Given the description of an element on the screen output the (x, y) to click on. 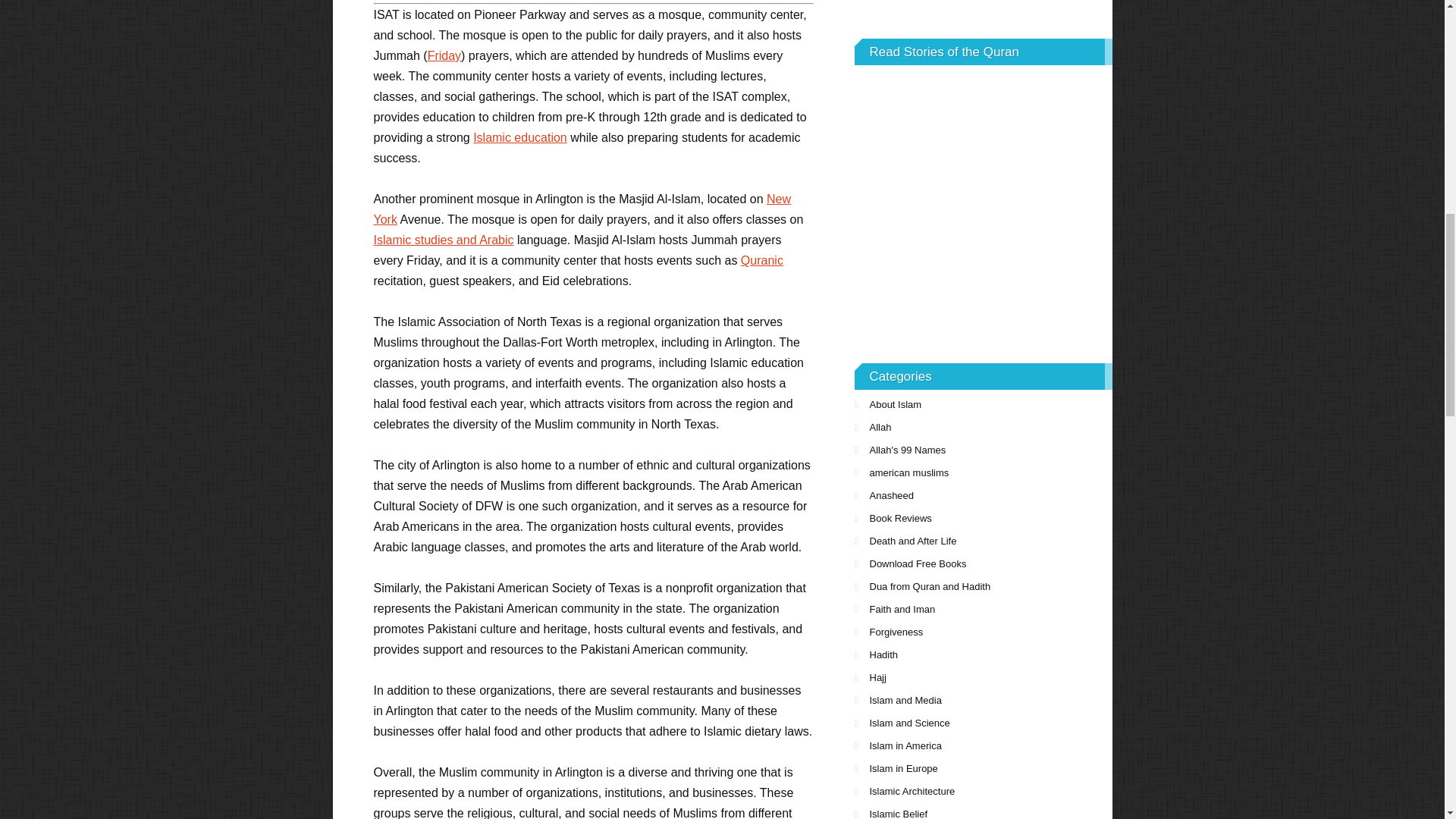
Islamic education (520, 137)
Allah's 99 Names (982, 449)
Islamic studies and Arabic (442, 239)
New York (581, 209)
Friday (444, 55)
american muslims (982, 472)
Quranic (762, 259)
Friday (444, 55)
Islamic education (520, 137)
Quranic (762, 259)
